Given the description of an element on the screen output the (x, y) to click on. 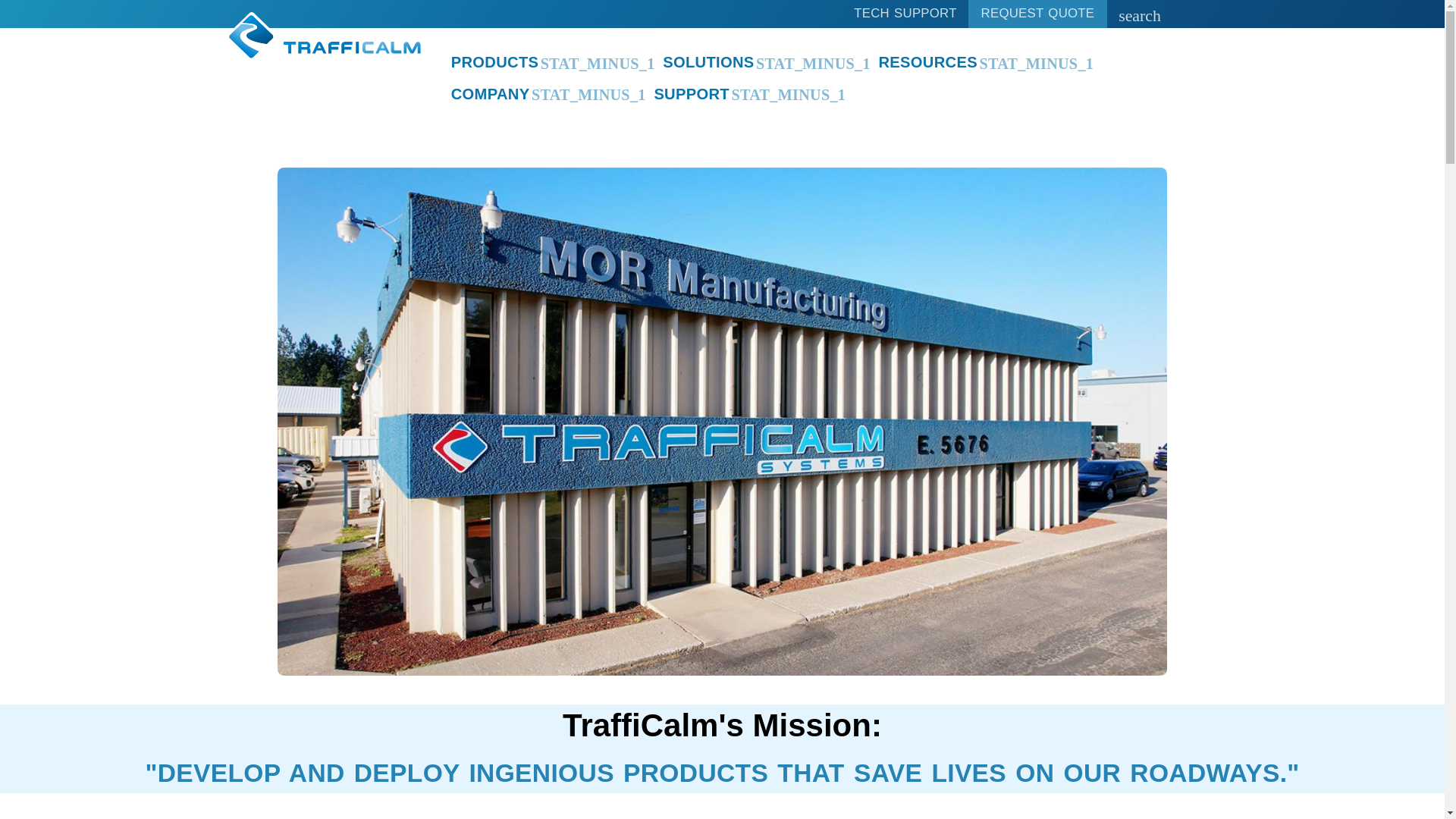
search (1139, 14)
TECH SUPPORT (904, 13)
Request a Quote (1037, 13)
Logomark (250, 36)
logotype (351, 47)
REQUEST QUOTE (1037, 13)
